Given the description of an element on the screen output the (x, y) to click on. 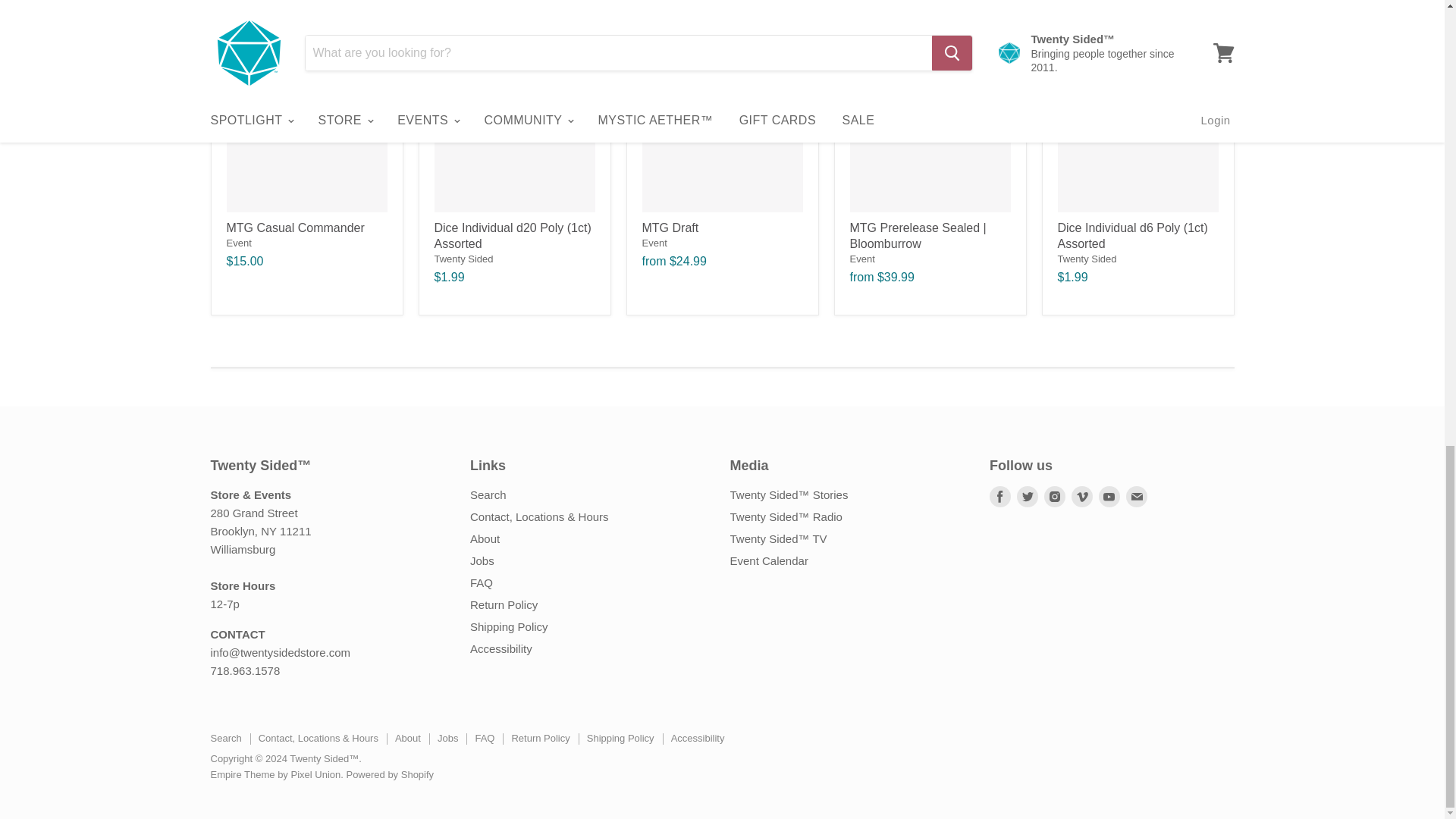
Facebook (1000, 496)
Vimeo (1082, 496)
Instagram (1054, 496)
E-mail (1136, 496)
Twitter (1027, 496)
Youtube (1109, 496)
